Given the description of an element on the screen output the (x, y) to click on. 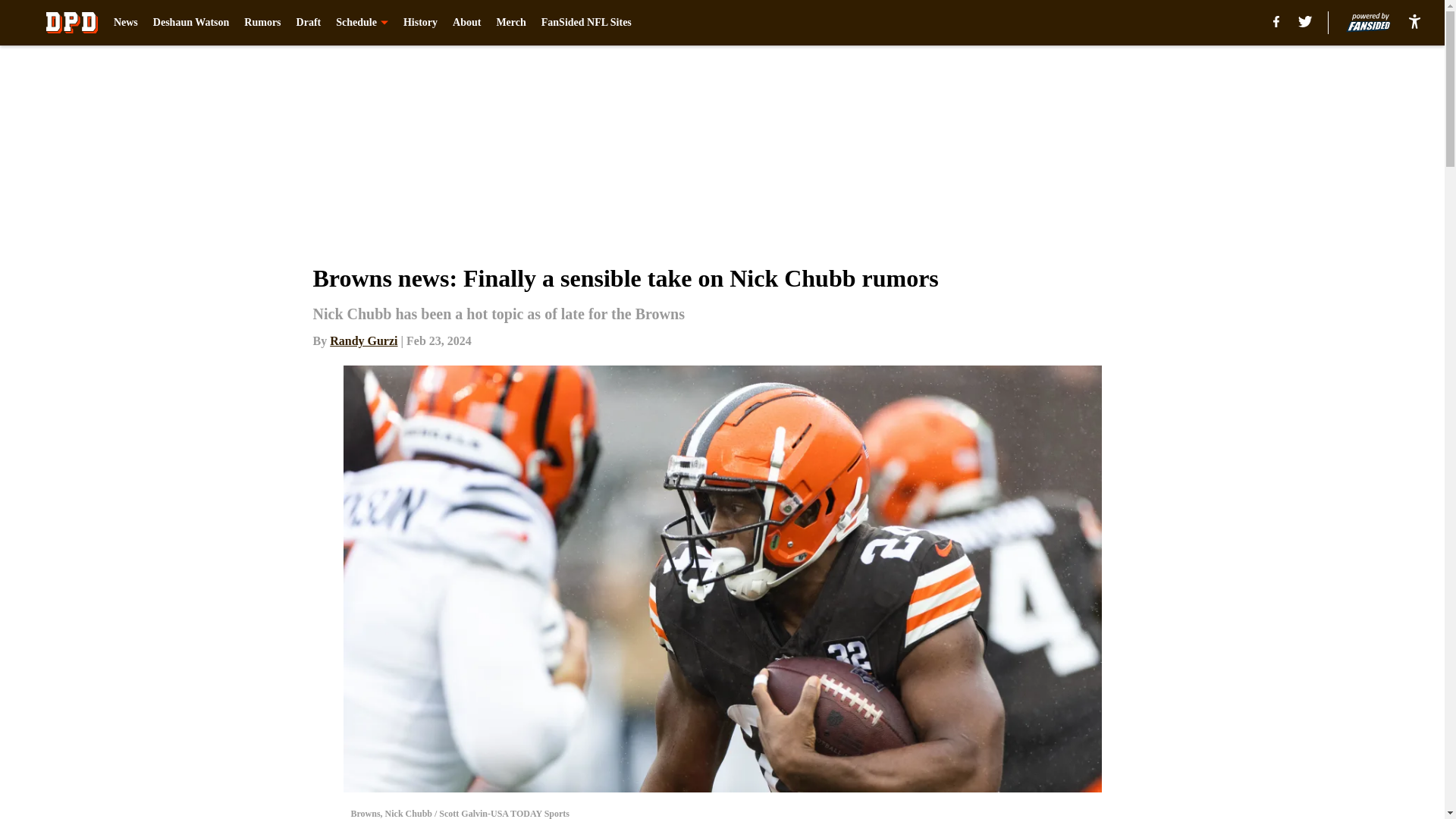
Randy Gurzi (363, 340)
About (466, 22)
Deshaun Watson (191, 22)
News (125, 22)
Draft (309, 22)
History (420, 22)
FanSided NFL Sites (586, 22)
Merch (510, 22)
Rumors (262, 22)
